Given the description of an element on the screen output the (x, y) to click on. 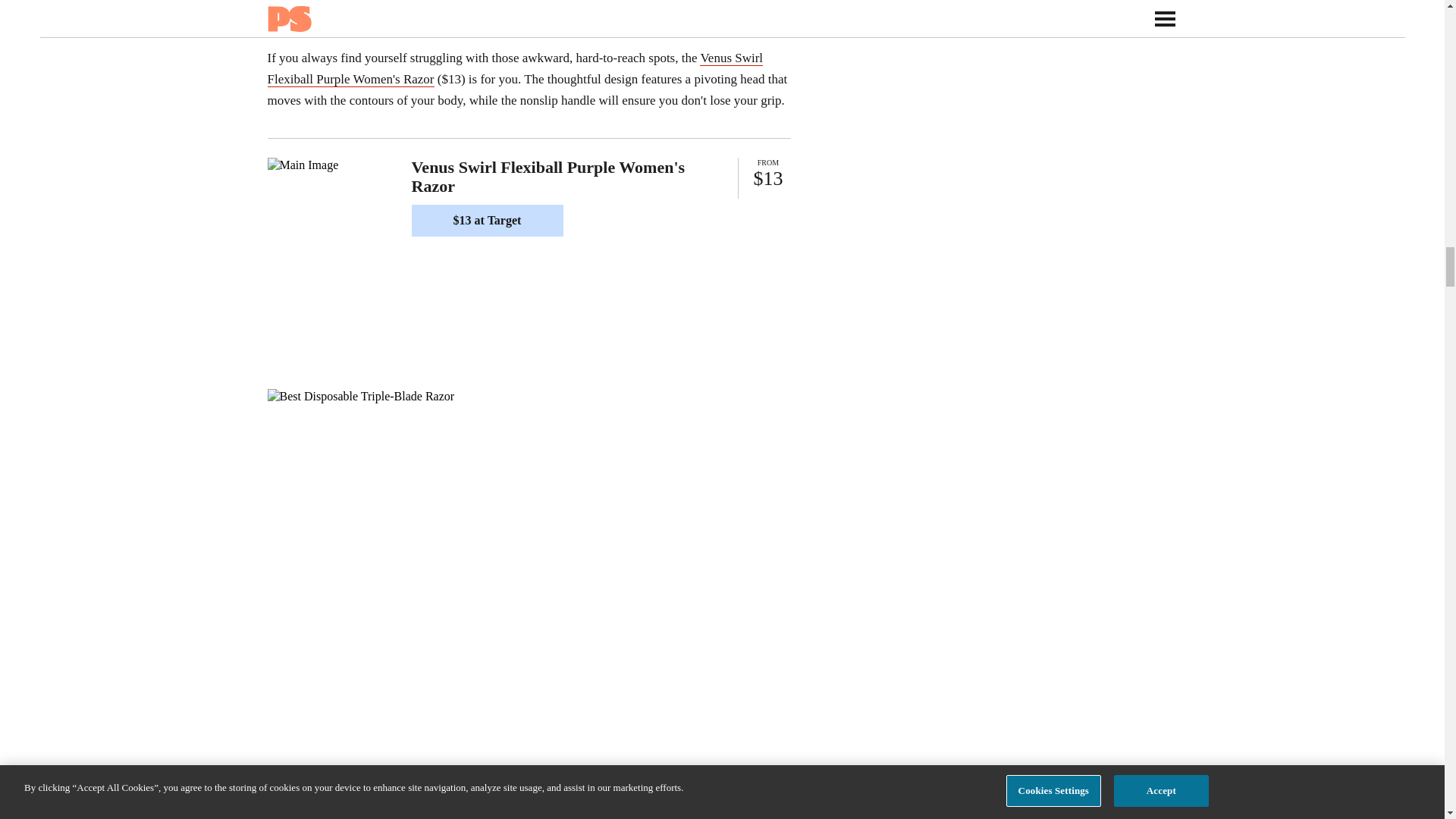
Venus Swirl Flexiball Purple Women's Razor (514, 68)
